Given the description of an element on the screen output the (x, y) to click on. 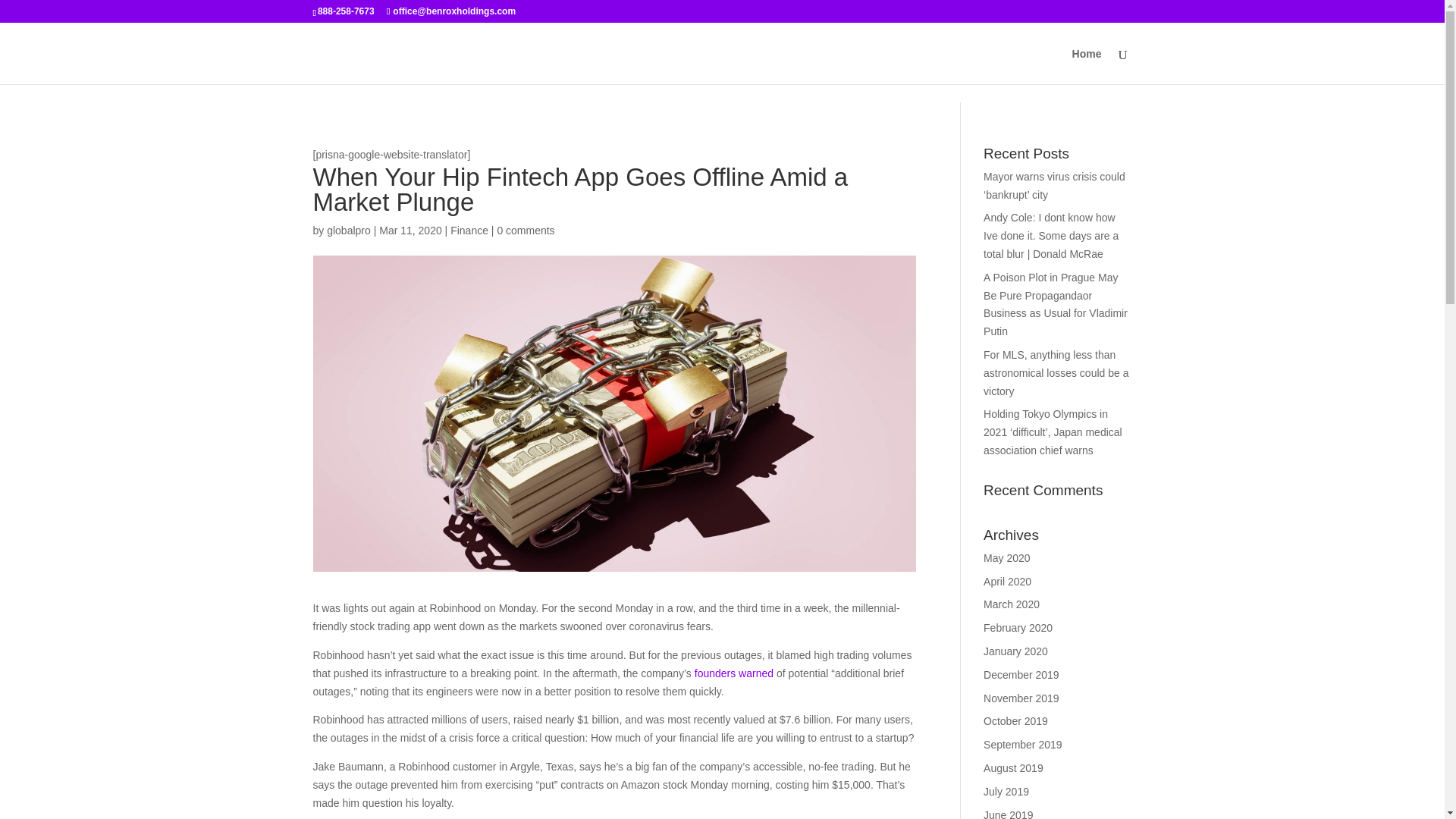
March 2020 (1011, 604)
July 2019 (1006, 791)
August 2019 (1013, 767)
Posts by globalpro (348, 230)
June 2019 (1008, 814)
globalpro (348, 230)
November 2019 (1021, 698)
May 2020 (1006, 558)
October 2019 (1016, 720)
April 2020 (1007, 581)
September 2019 (1023, 744)
January 2020 (1016, 651)
founders warned (733, 673)
December 2019 (1021, 674)
